Given the description of an element on the screen output the (x, y) to click on. 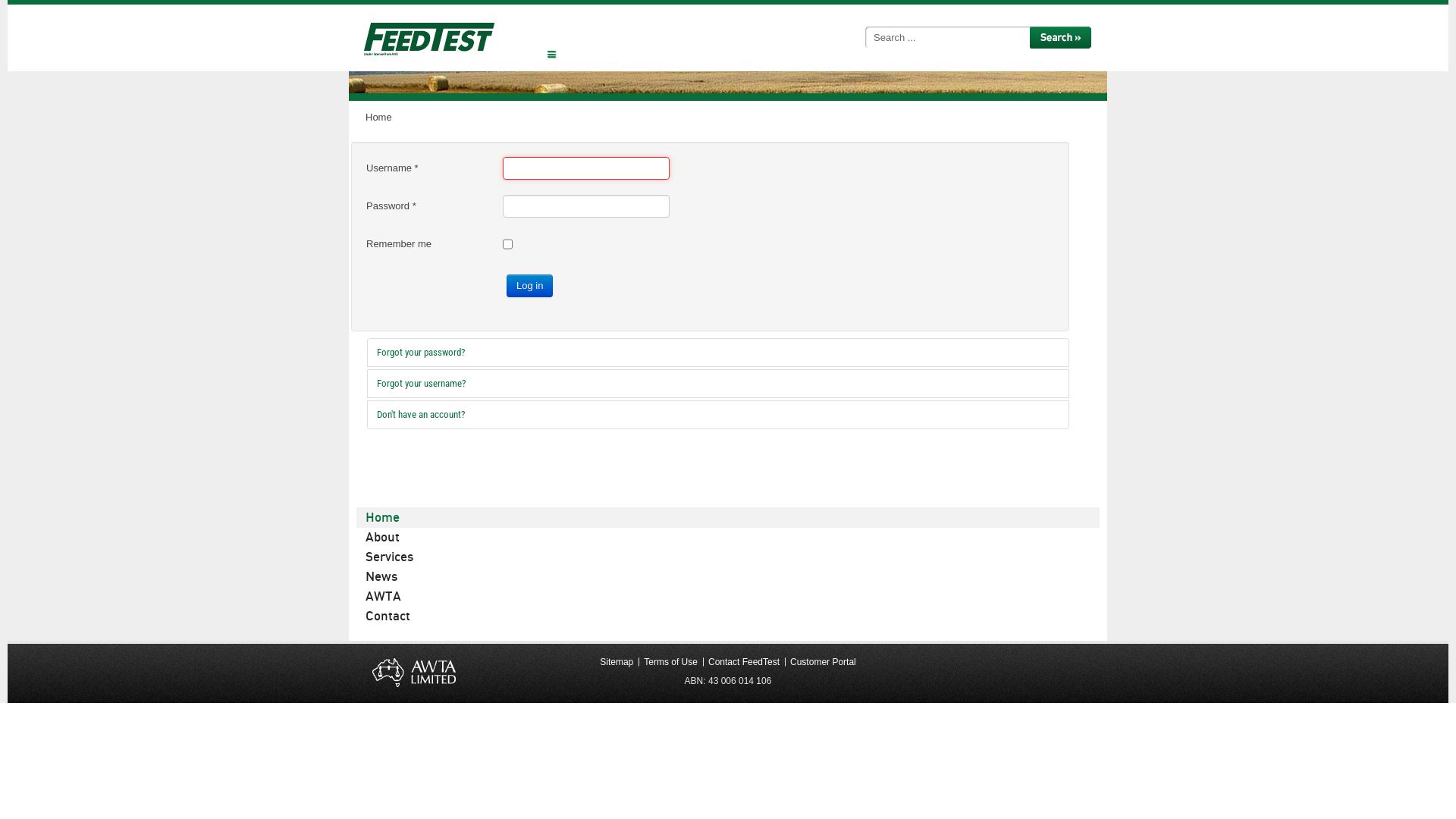
Contact FeedTest Element type: text (743, 662)
Home Element type: text (727, 517)
Customer Portal Element type: text (823, 662)
Services Element type: text (727, 556)
Forgot your username? Element type: text (718, 383)
Log in Element type: text (529, 285)
Terms of Use Element type: text (670, 662)
AWTA Element type: text (727, 596)
Sitemap Element type: text (616, 662)
Forgot your password? Element type: text (718, 352)
Don't have an account? Element type: text (718, 414)
Contact Element type: text (727, 615)
About Element type: text (727, 537)
News Element type: text (727, 576)
